Given the description of an element on the screen output the (x, y) to click on. 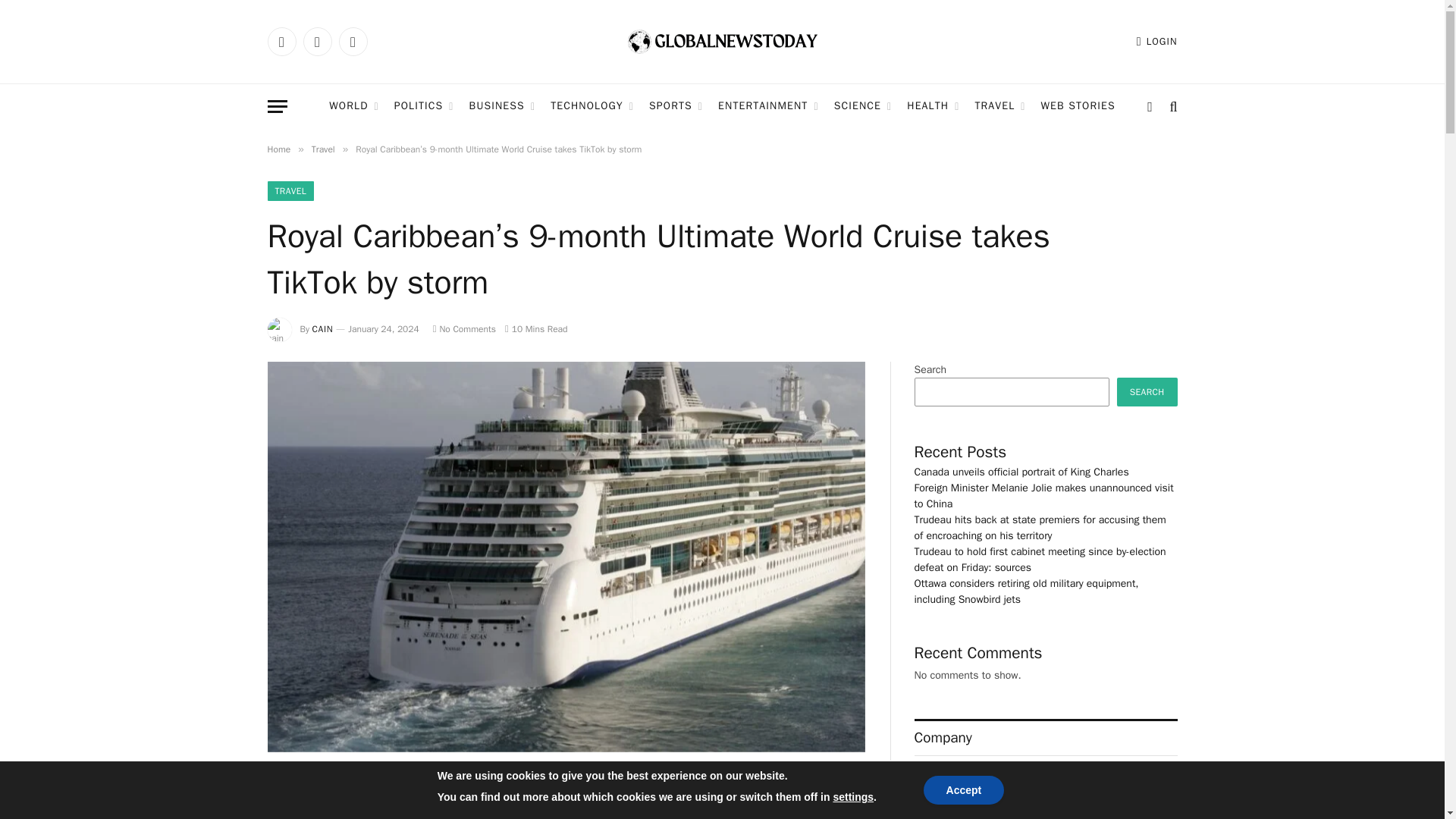
POLITICS (424, 106)
WORLD (353, 106)
GlobalNewsToday (721, 41)
Instagram (351, 41)
LOGIN (1157, 41)
Facebook (280, 41)
